Given the description of an element on the screen output the (x, y) to click on. 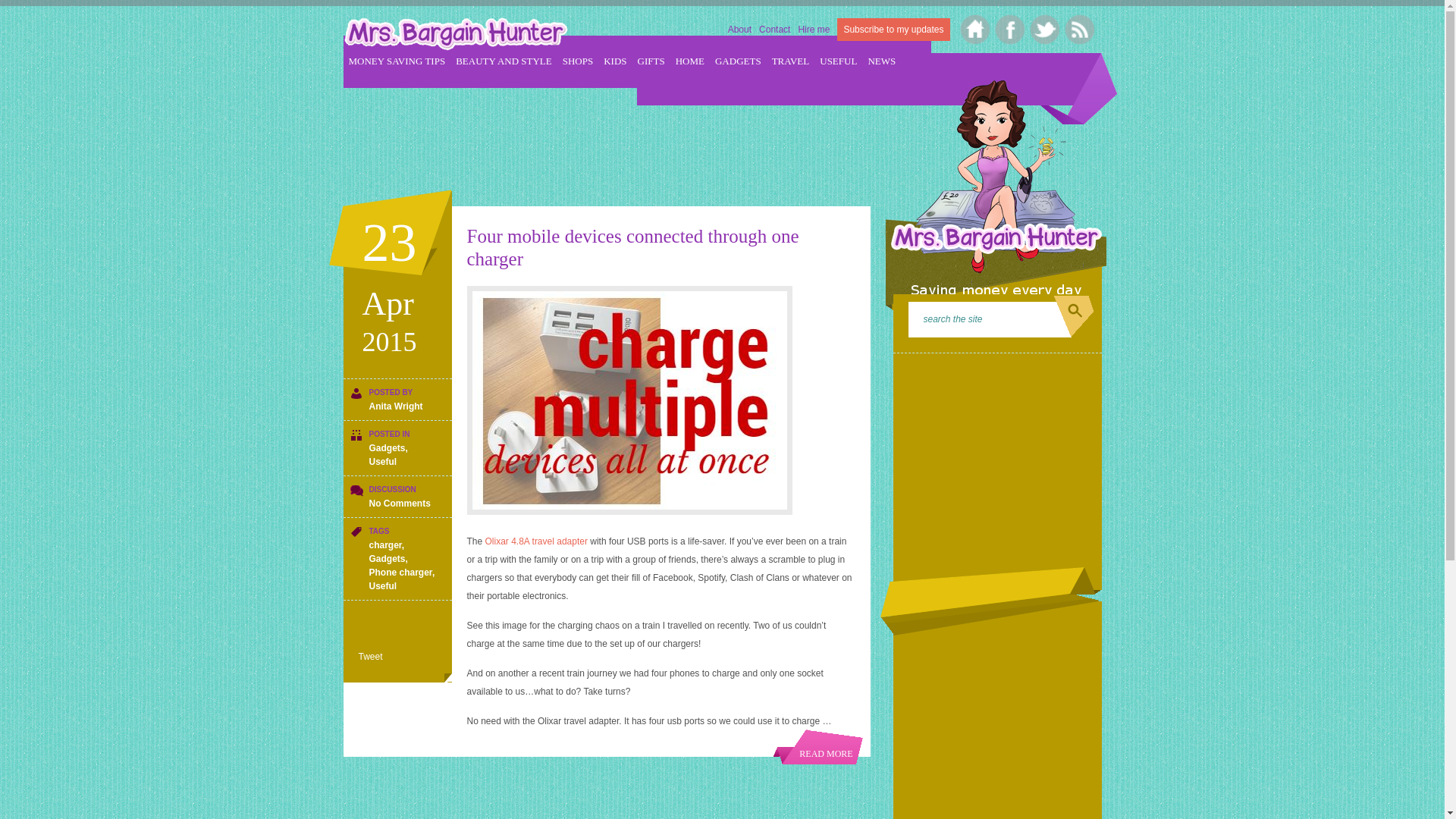
Read the full post (817, 746)
Four mobile devices connected through one charger (633, 247)
BEAUTY AND STYLE (503, 61)
GADGETS (737, 61)
NEWS (881, 61)
About (739, 29)
Advertisement (997, 457)
Contact (774, 29)
Useful (382, 585)
Hire me (813, 29)
MONEY SAVING TIPS (396, 61)
RSS Feed (1076, 27)
Tweet (369, 656)
USEFUL (838, 61)
Gadgets (386, 558)
